Given the description of an element on the screen output the (x, y) to click on. 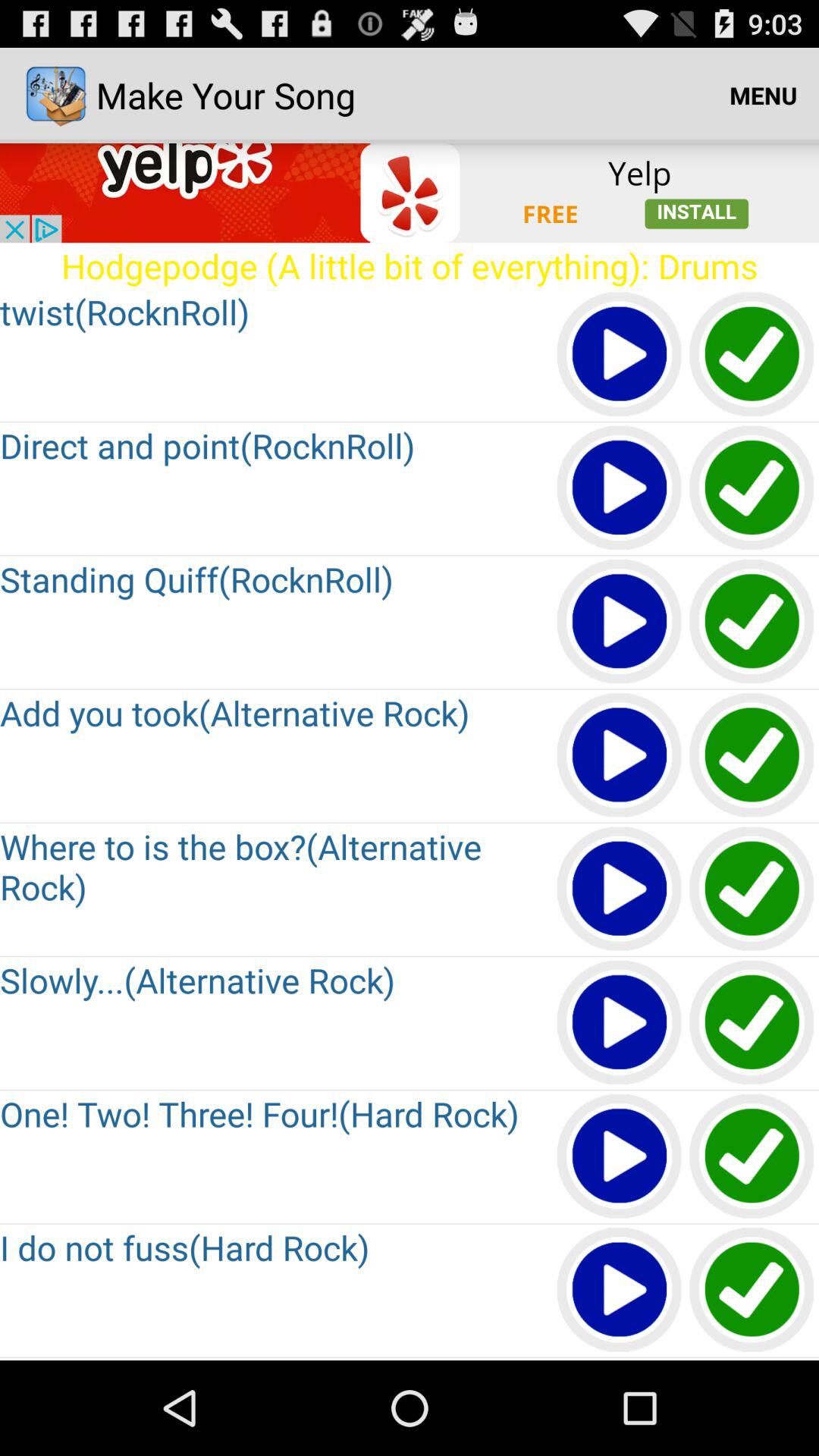
play audio file (619, 354)
